Given the description of an element on the screen output the (x, y) to click on. 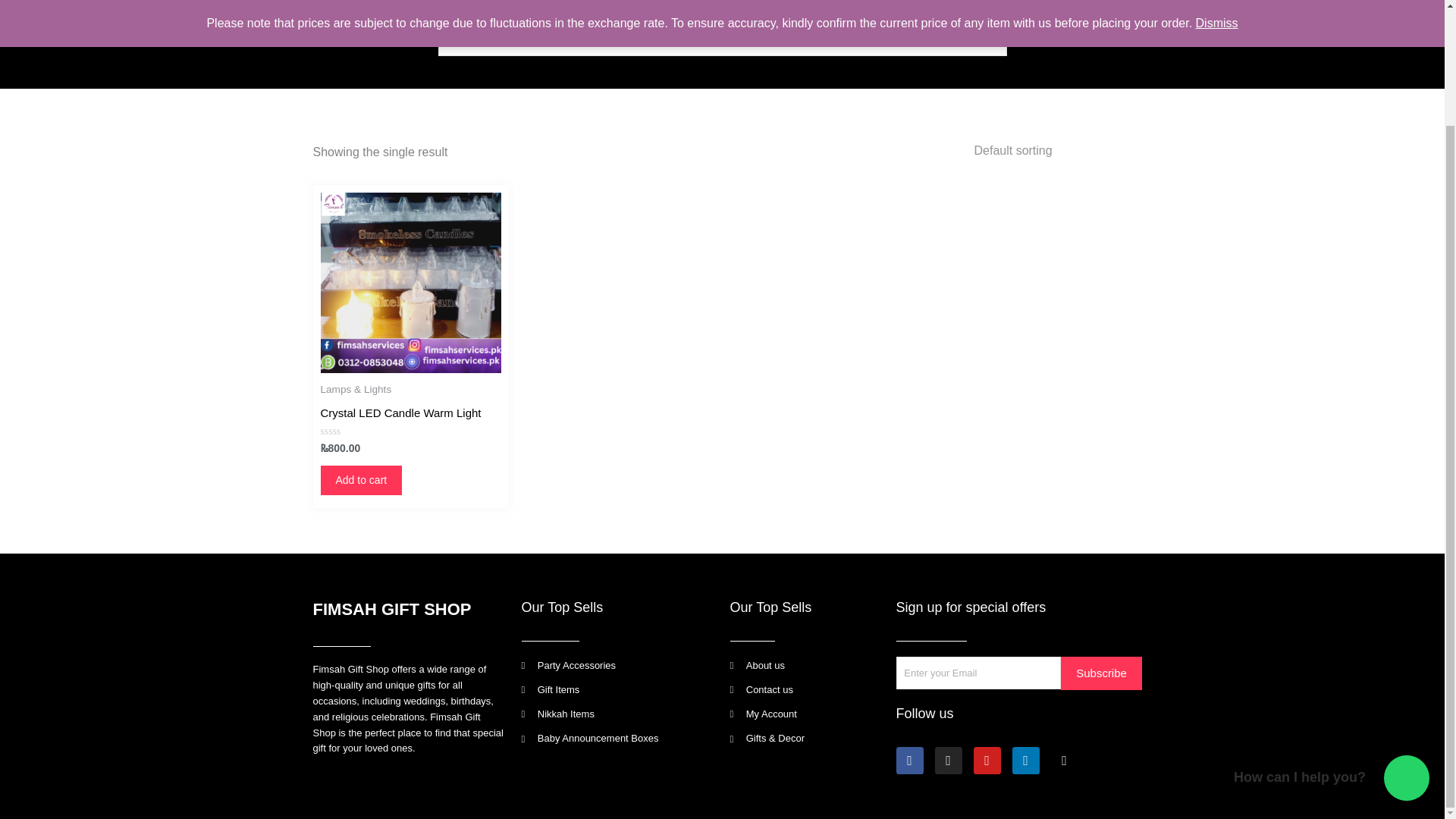
How can I help you? (1406, 639)
Subscribe (1101, 673)
Facebook-f (909, 759)
Linkedin (1025, 759)
Instagram (948, 759)
Youtube (987, 759)
My Account (804, 714)
About us (804, 665)
X-twitter (1064, 759)
Crystal LED Candle Warm Light (400, 415)
Contact us (804, 689)
Add to cart (360, 480)
